Given the description of an element on the screen output the (x, y) to click on. 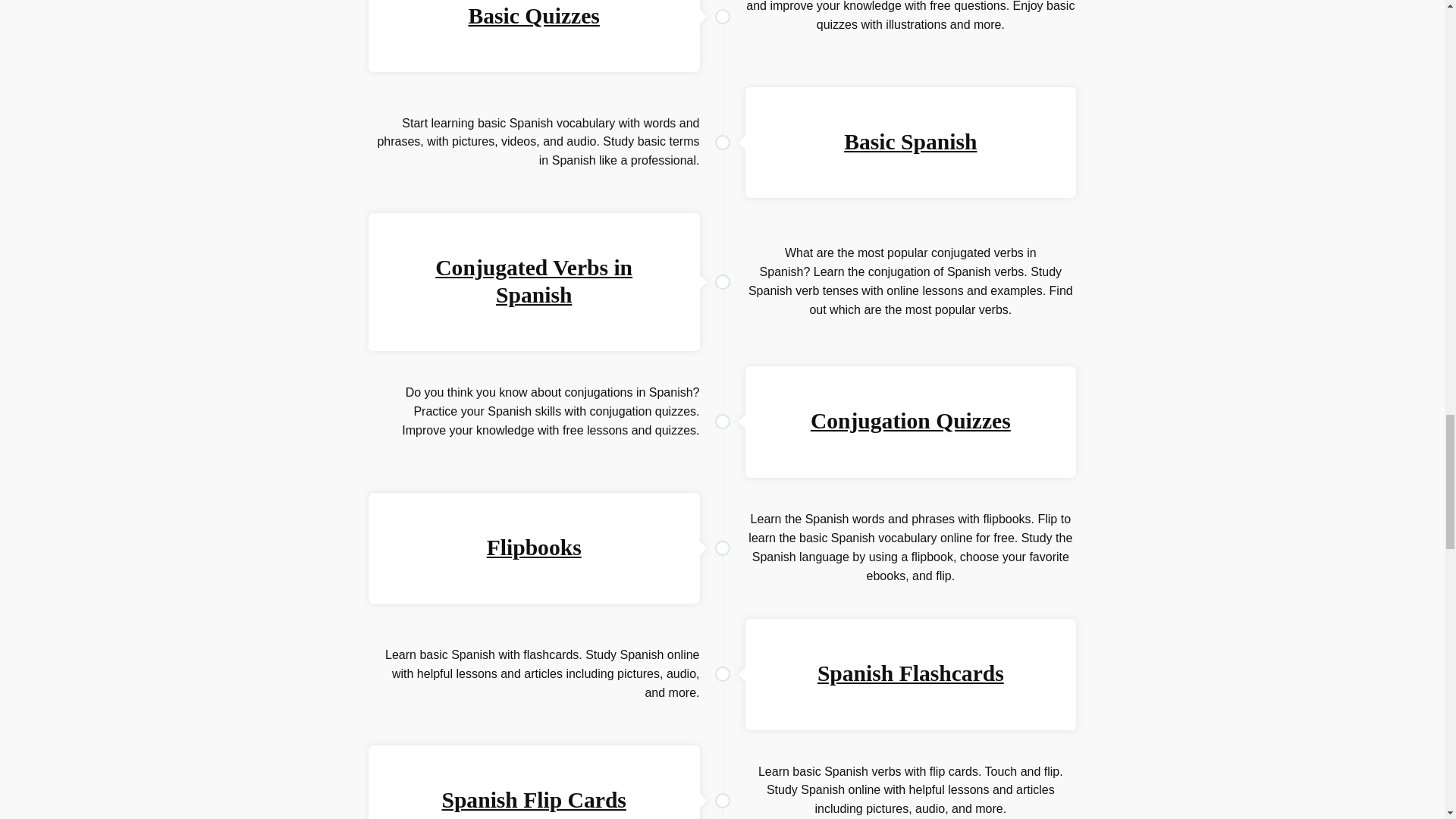
Basic Spanish (910, 141)
Basic Quizzes (532, 15)
Conjugated Verbs in Spanish (533, 281)
